Given the description of an element on the screen output the (x, y) to click on. 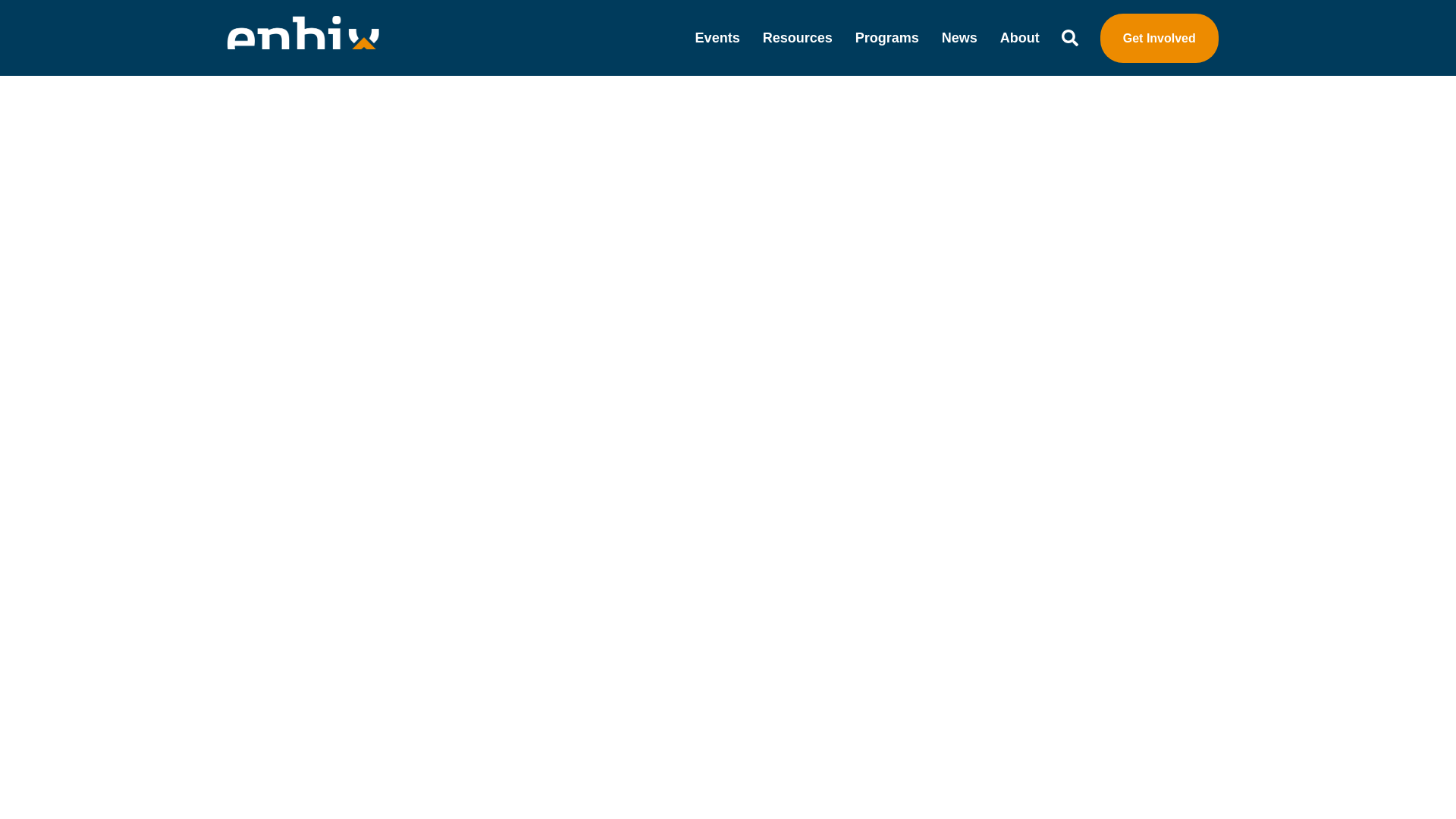
About (1019, 37)
Resources (797, 37)
Programs (887, 37)
Events (717, 37)
News (959, 37)
